Given the description of an element on the screen output the (x, y) to click on. 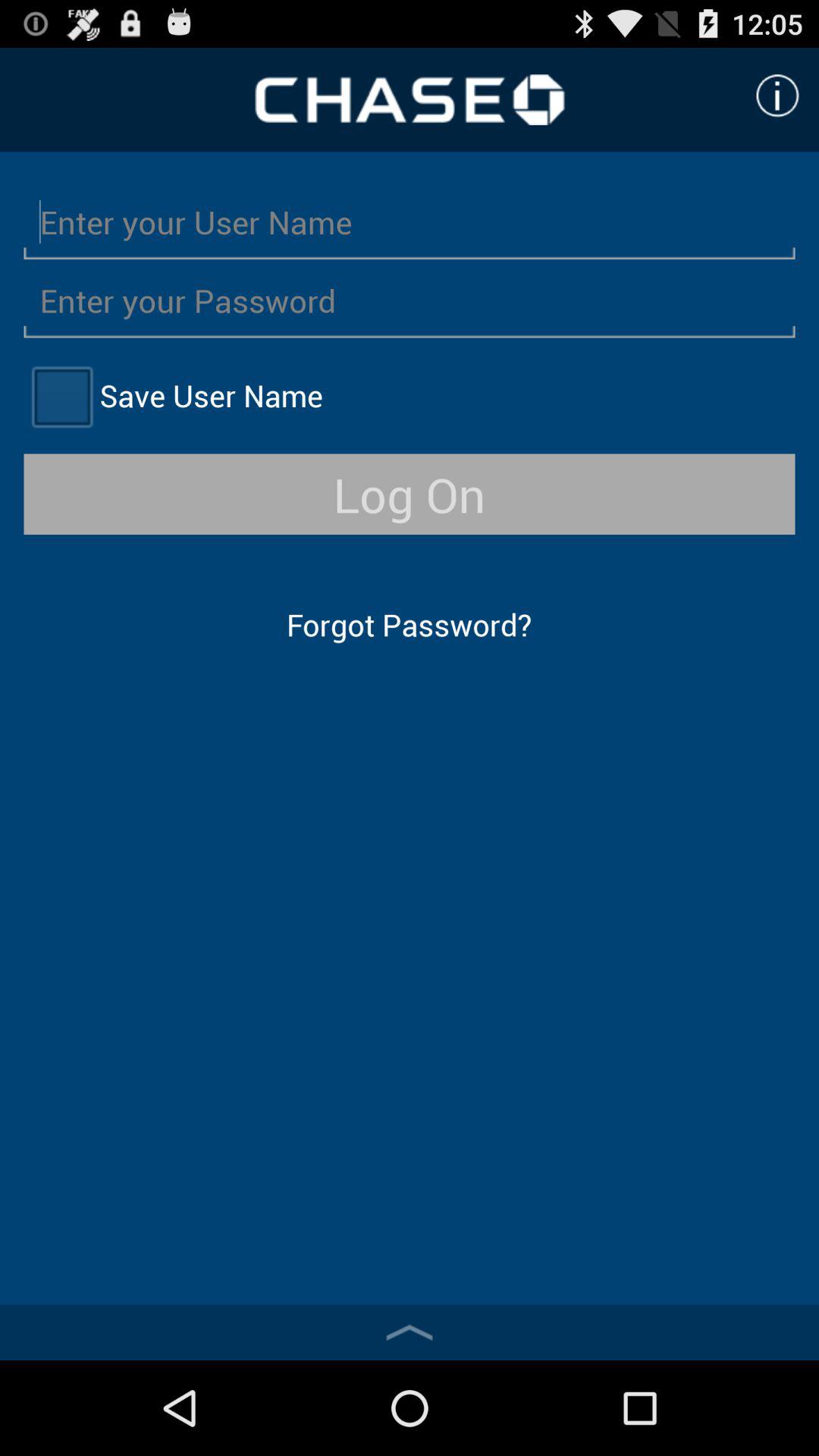
turn on item next to the save user name item (61, 395)
